Given the description of an element on the screen output the (x, y) to click on. 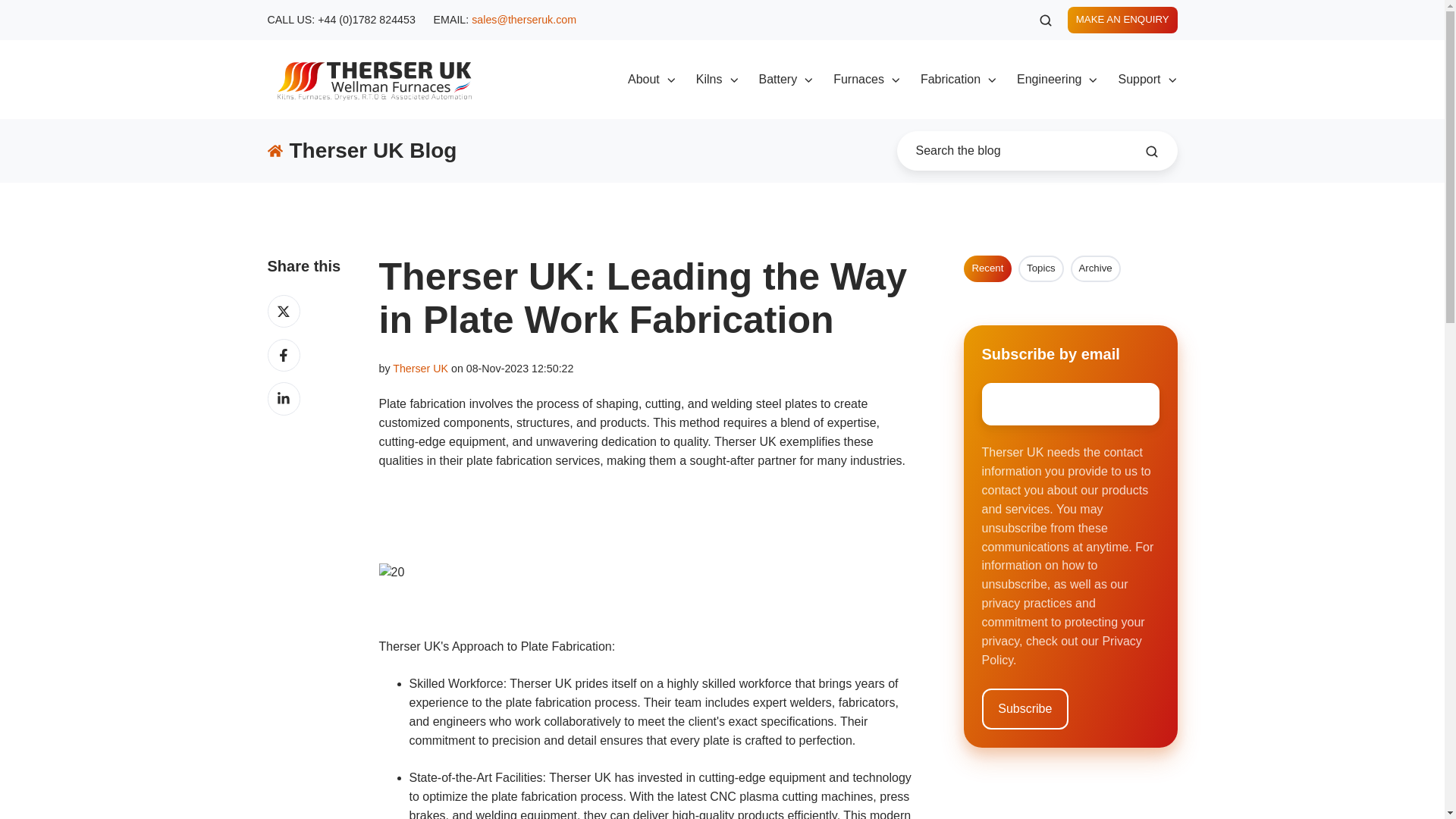
Furnaces (866, 79)
Kilns (717, 79)
About (652, 79)
Battery (785, 79)
NEW Theser Logo-wellman-4-png (373, 79)
Subscribe (1024, 708)
MAKE AN ENQUIRY (1122, 19)
